Given the description of an element on the screen output the (x, y) to click on. 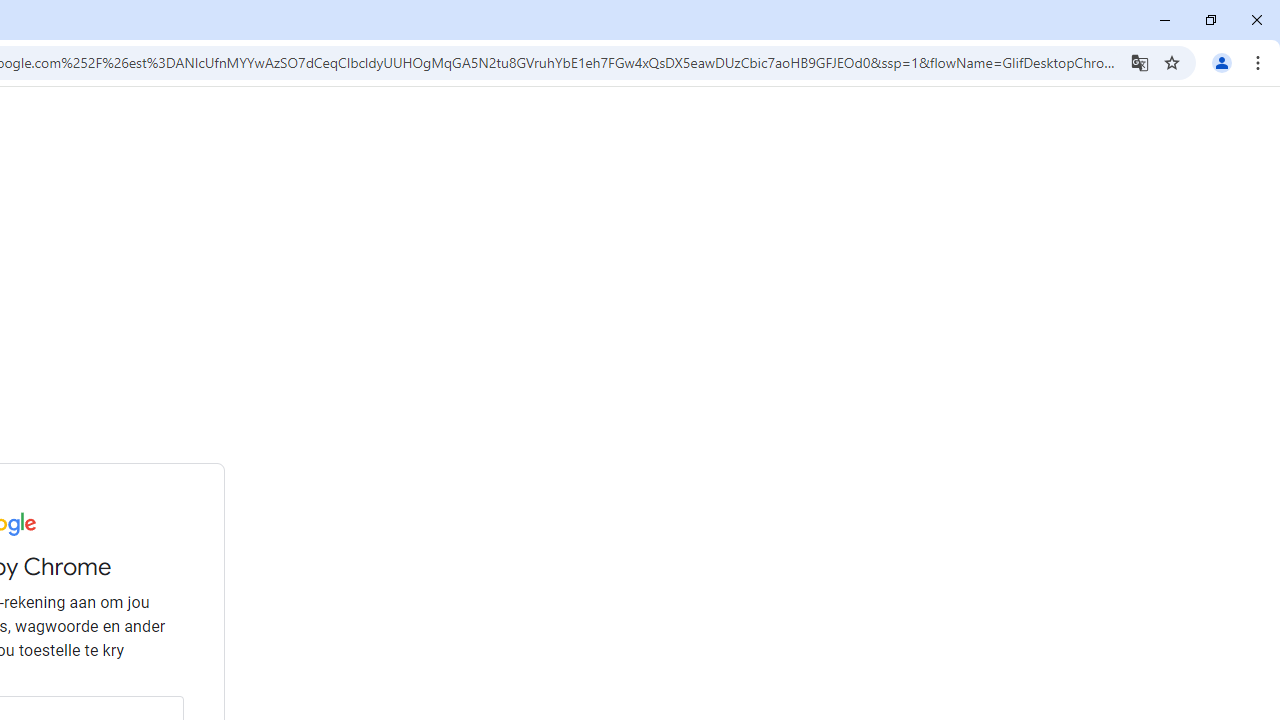
Translate this page (1139, 62)
